Given the description of an element on the screen output the (x, y) to click on. 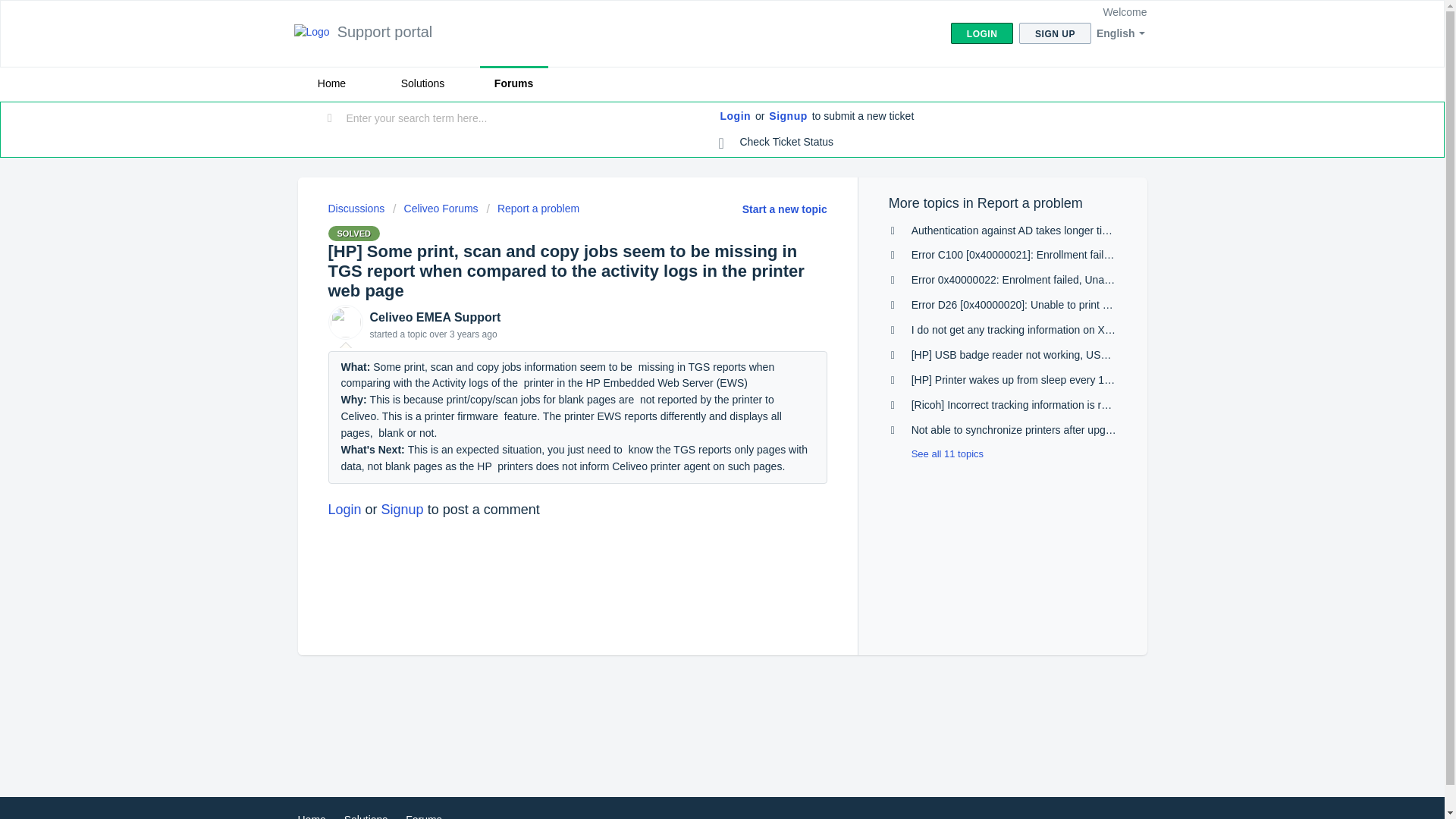
LOGIN (981, 33)
Forums (423, 816)
SIGN UP (1054, 33)
Start a new topic (784, 209)
See all 11 topics (936, 453)
Login (735, 116)
Home (331, 83)
Report a problem (532, 208)
Solutions (365, 816)
Start a new topic (784, 209)
Discussions (355, 208)
Signup (402, 509)
